Given the description of an element on the screen output the (x, y) to click on. 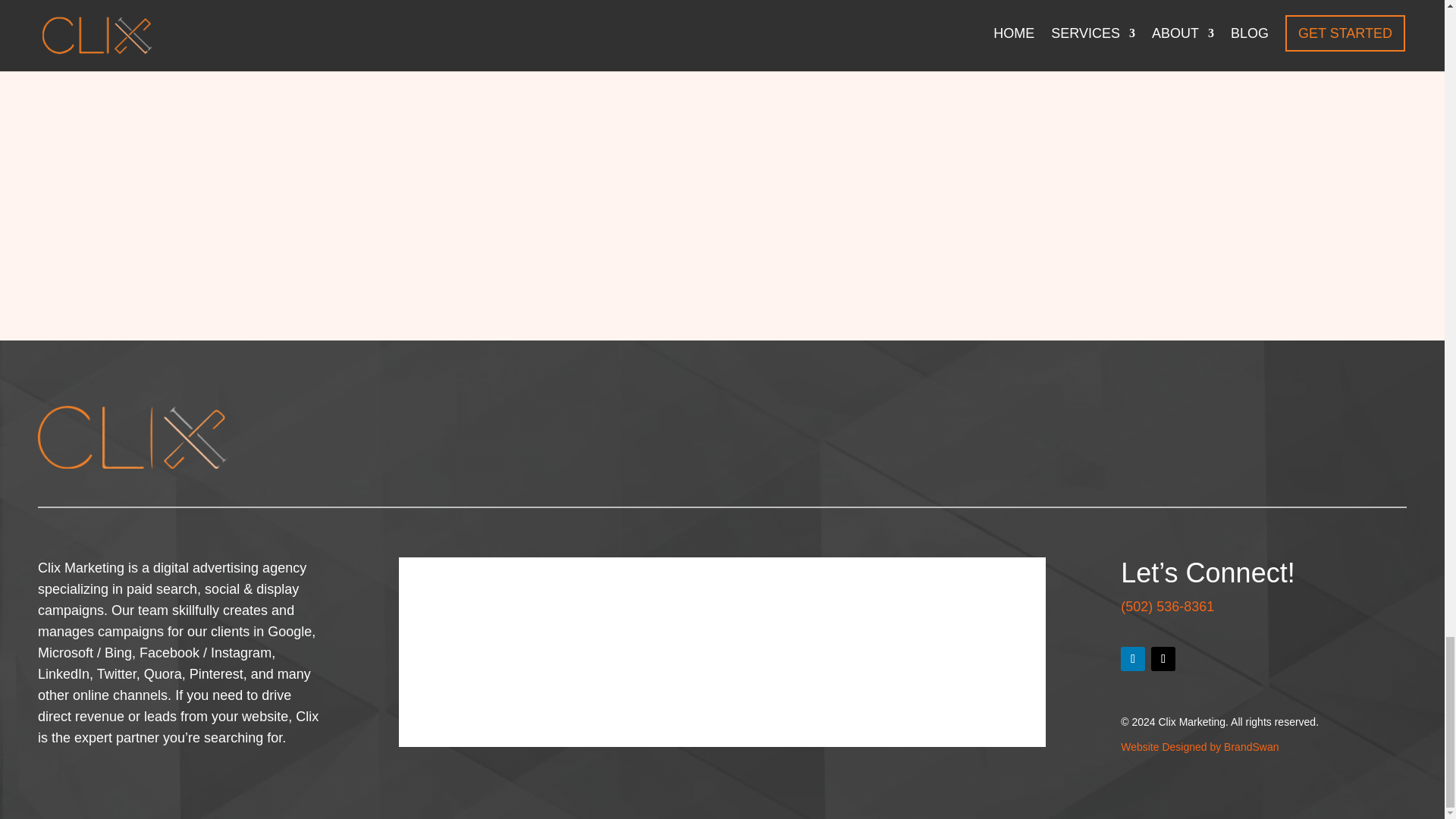
Form 0 (721, 652)
Follow on LinkedIn (1132, 658)
Follow on X (1162, 658)
Delaware Web Design by BrandSwan (1199, 746)
